Given the description of an element on the screen output the (x, y) to click on. 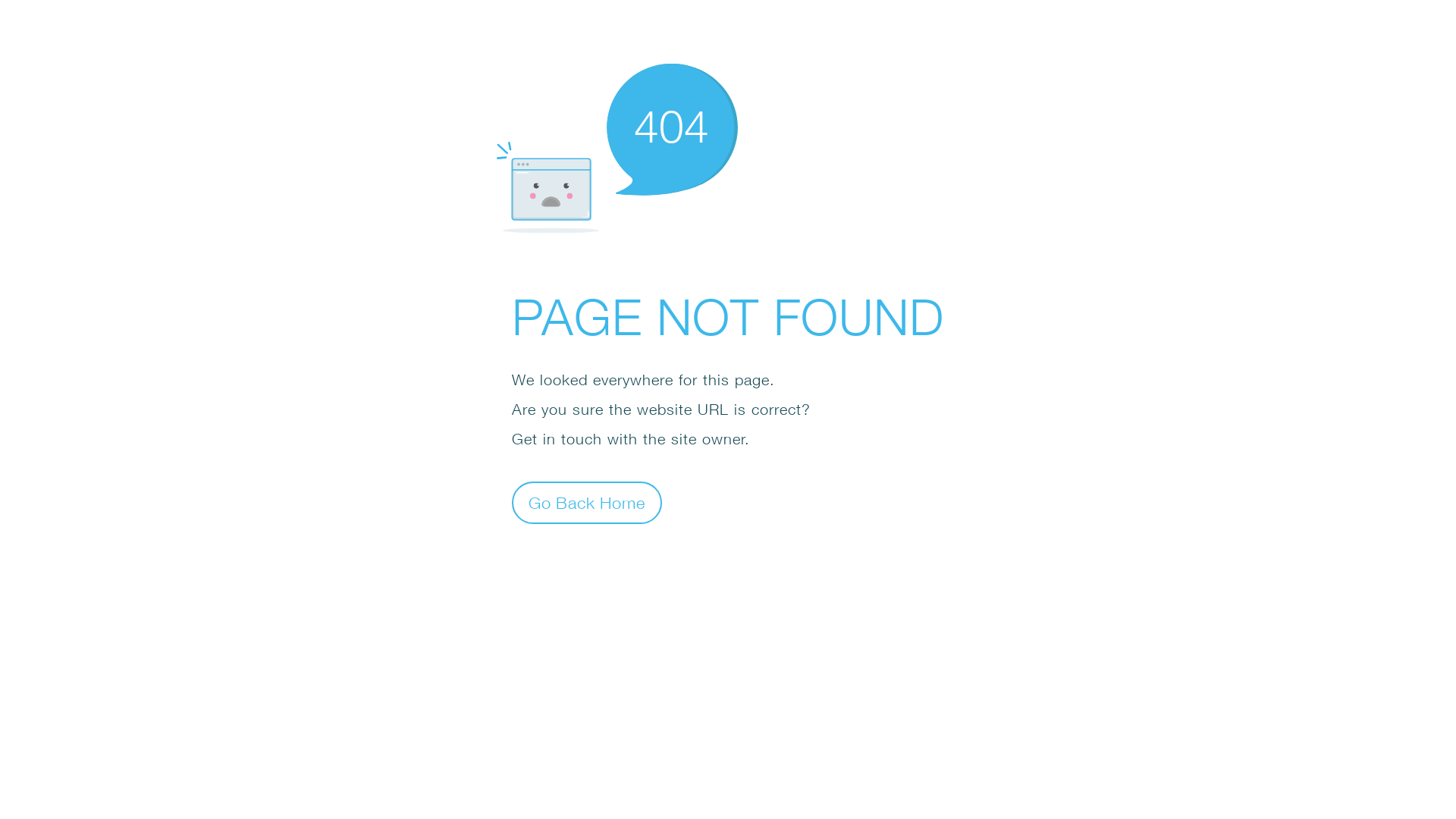
Go Back Home Element type: text (586, 502)
